Given the description of an element on the screen output the (x, y) to click on. 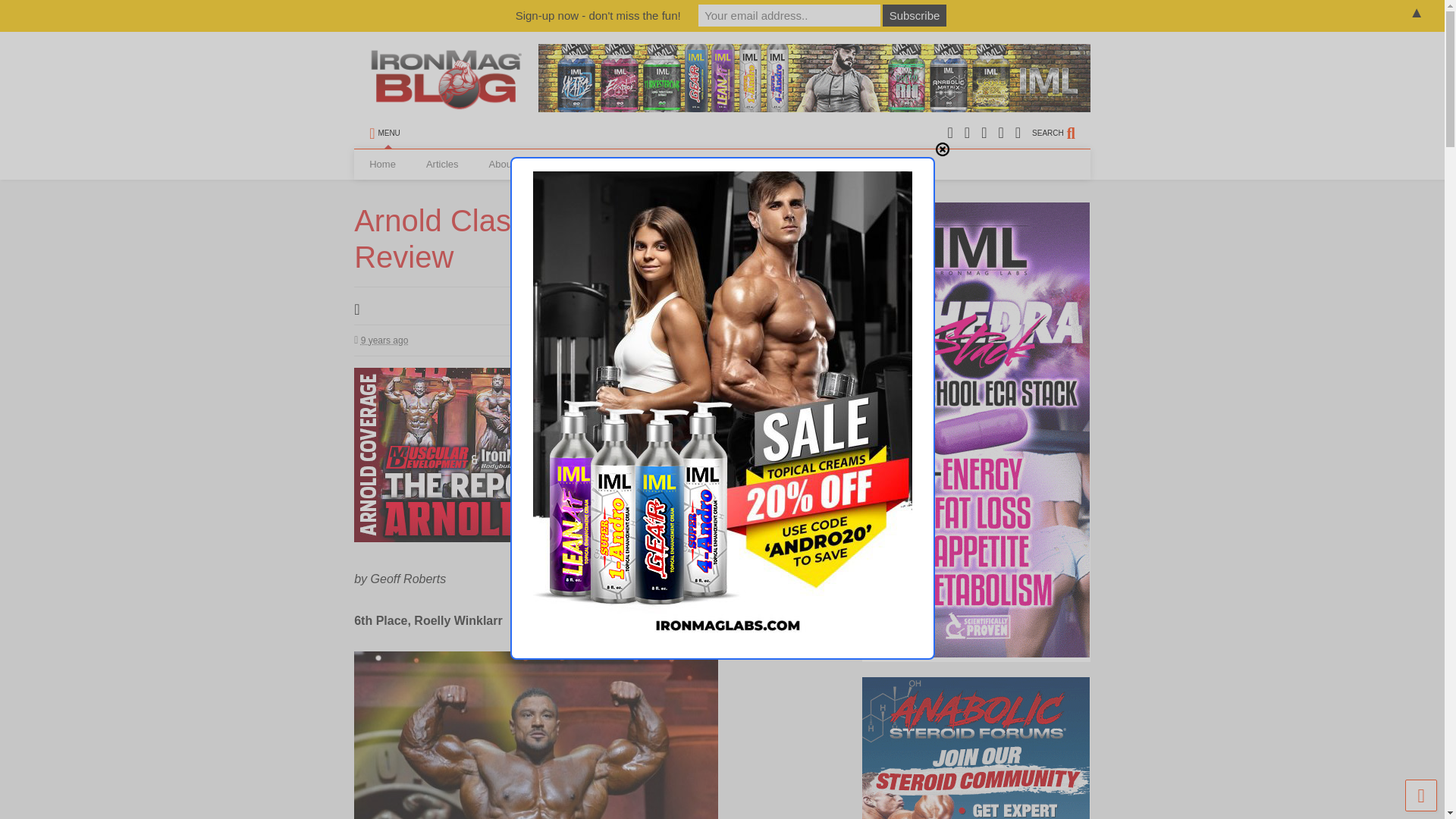
Articles (442, 164)
MENU (383, 132)
Online Shops (658, 164)
Shops (658, 164)
About Us (508, 164)
Subscribe (914, 15)
Home (381, 164)
Follow Us (585, 164)
9 years ago (380, 340)
Expert Help (732, 164)
About Us (508, 164)
SEARCH (1061, 132)
Follow Us (585, 164)
All Articles (442, 164)
